Given the description of an element on the screen output the (x, y) to click on. 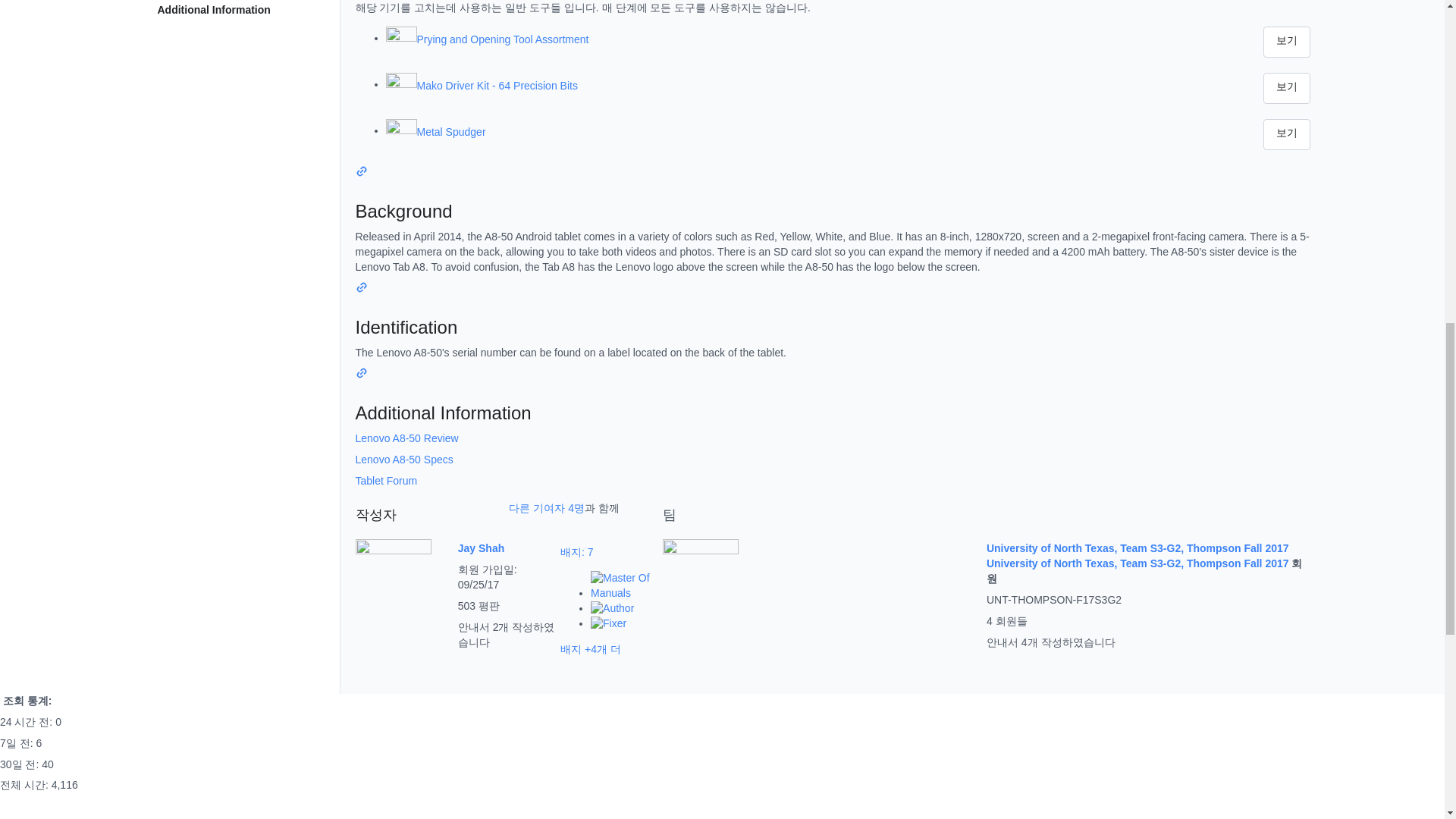
Tablet Forum (385, 480)
Mako Driver Kit - 64 Precision Bits (839, 86)
Lenovo A8-50 Specs (403, 459)
Prying and Opening Tool Assortment (839, 39)
Metal Spudger (839, 132)
Lenovo A8-50 Review (406, 438)
